Given the description of an element on the screen output the (x, y) to click on. 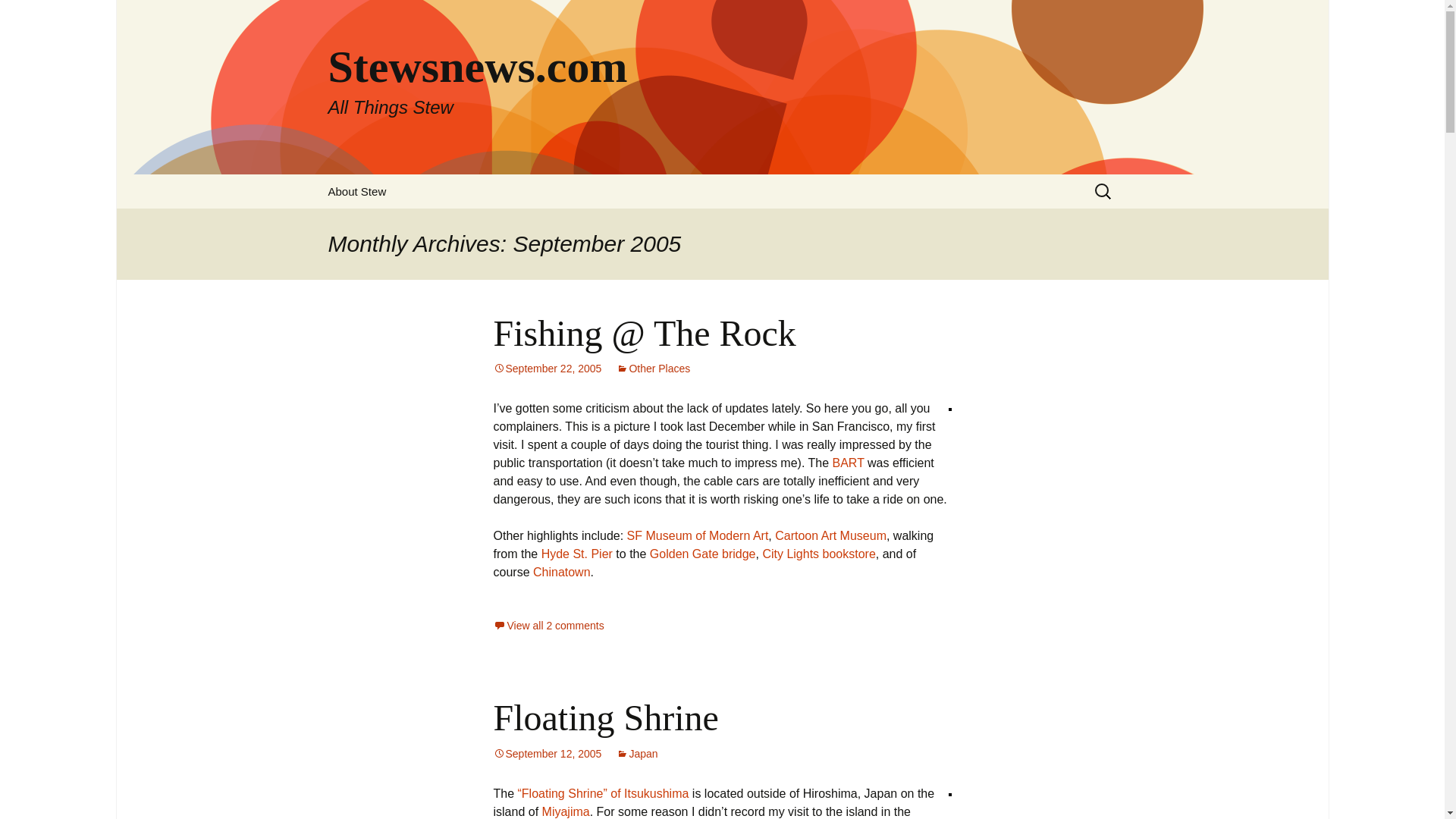
City Lights bookstore (652, 368)
Hyde St. Pier (818, 553)
Golden Gate bridge (576, 553)
BART (702, 553)
View all 2 comments (848, 462)
Skip to content (548, 625)
September 12, 2005 (636, 753)
Skip to content (547, 753)
Stewsnews.com (830, 535)
Floating Shrine (357, 191)
